Given the description of an element on the screen output the (x, y) to click on. 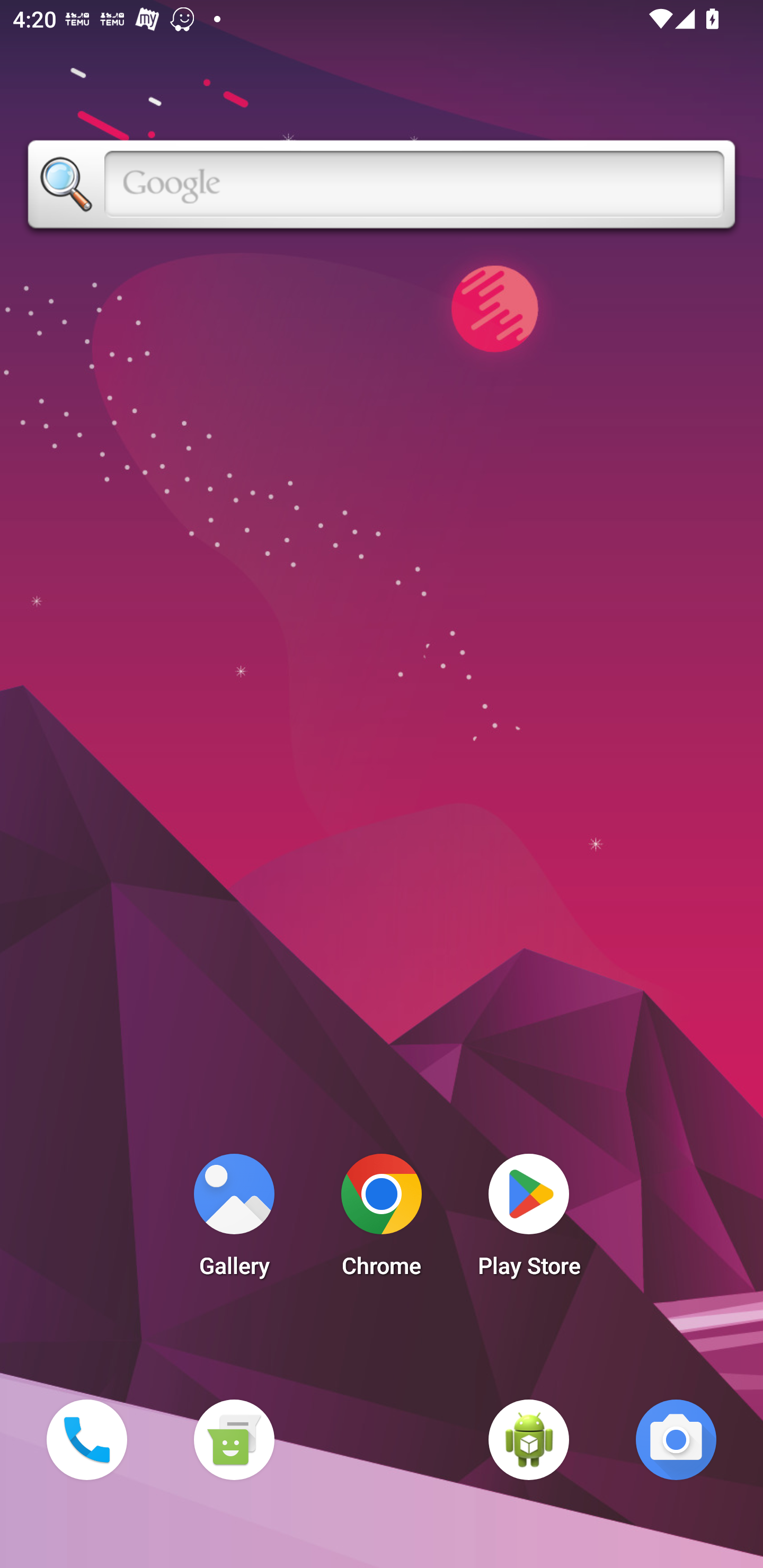
Gallery (233, 1220)
Chrome (381, 1220)
Play Store (528, 1220)
Phone (86, 1439)
Messaging (233, 1439)
WebView Browser Tester (528, 1439)
Camera (676, 1439)
